Given the description of an element on the screen output the (x, y) to click on. 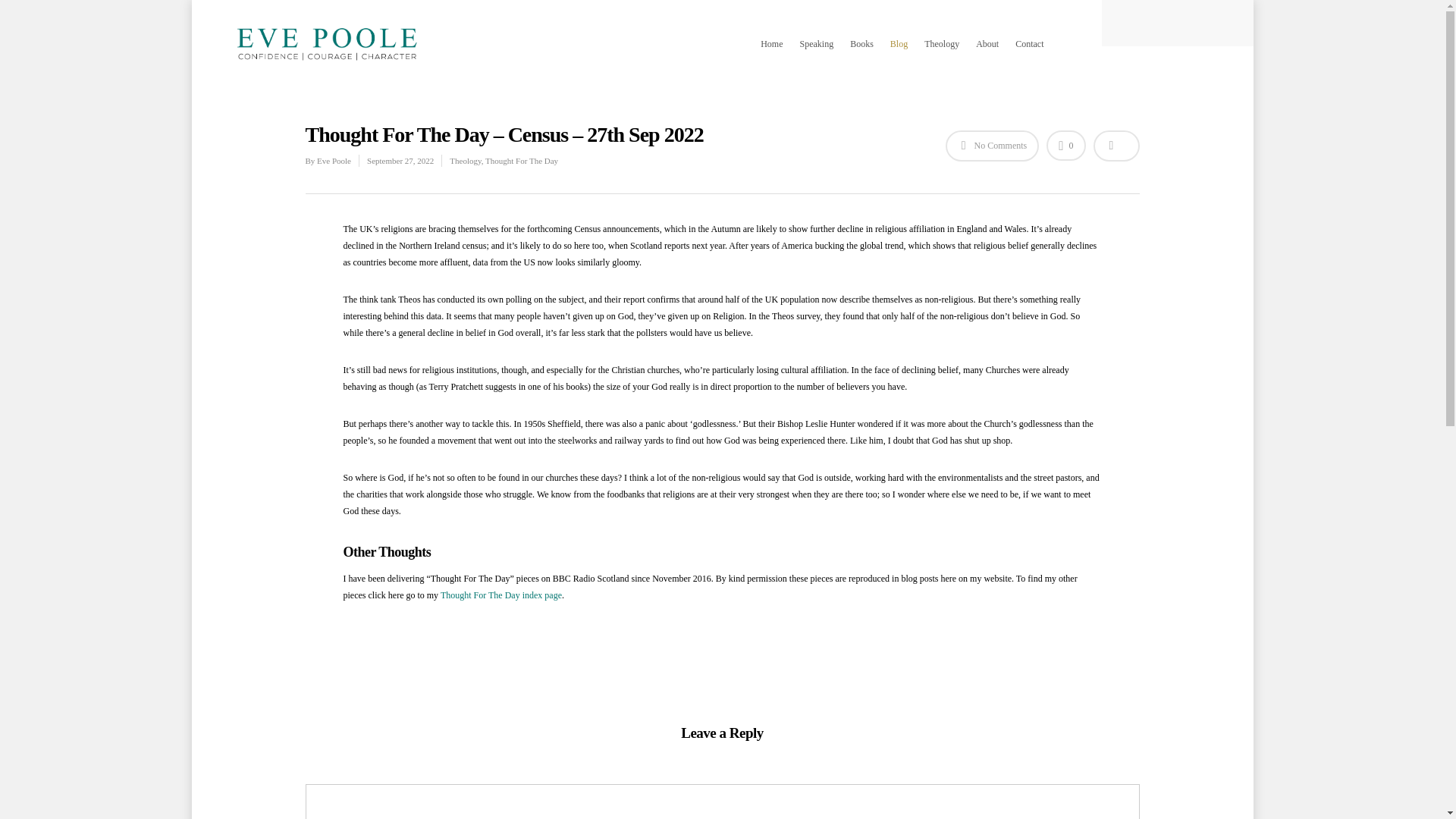
Speaking (816, 54)
Contact (1029, 54)
Thought For The Day index page (501, 594)
Love this (1065, 145)
0 (1065, 145)
Thought For The Day (520, 160)
Posts by Eve Poole (333, 160)
About (987, 54)
Books (861, 54)
Eve Poole (333, 160)
Theology (941, 54)
No Comments (991, 145)
Theology (464, 160)
Blog (898, 54)
Home (771, 54)
